Given the description of an element on the screen output the (x, y) to click on. 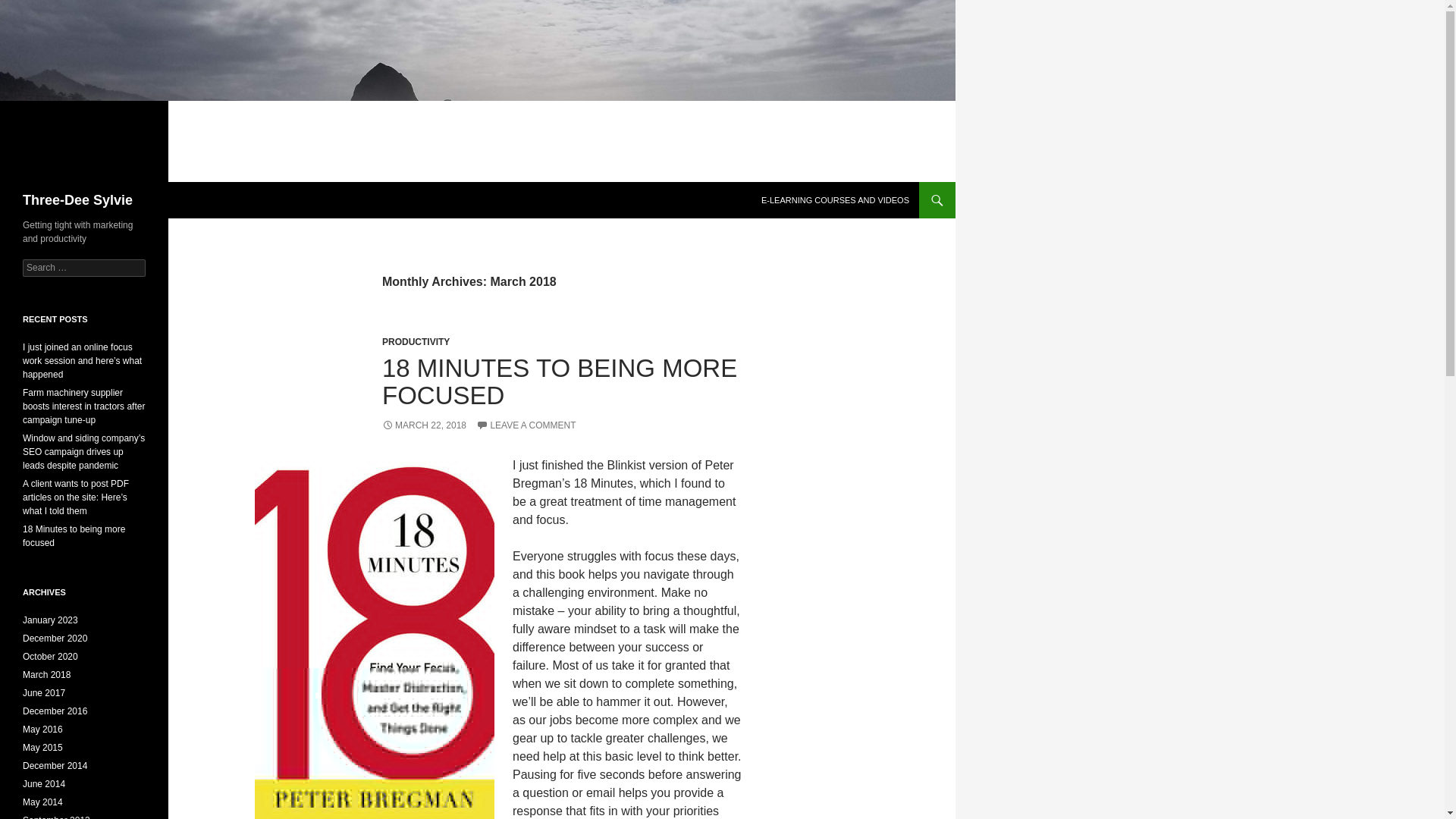
December 2014 (55, 765)
May 2015 (42, 747)
MARCH 22, 2018 (423, 425)
October 2020 (50, 656)
September 2013 (56, 816)
Search (30, 8)
PRODUCTIVITY (415, 341)
LEAVE A COMMENT (525, 425)
December 2016 (55, 710)
